Given the description of an element on the screen output the (x, y) to click on. 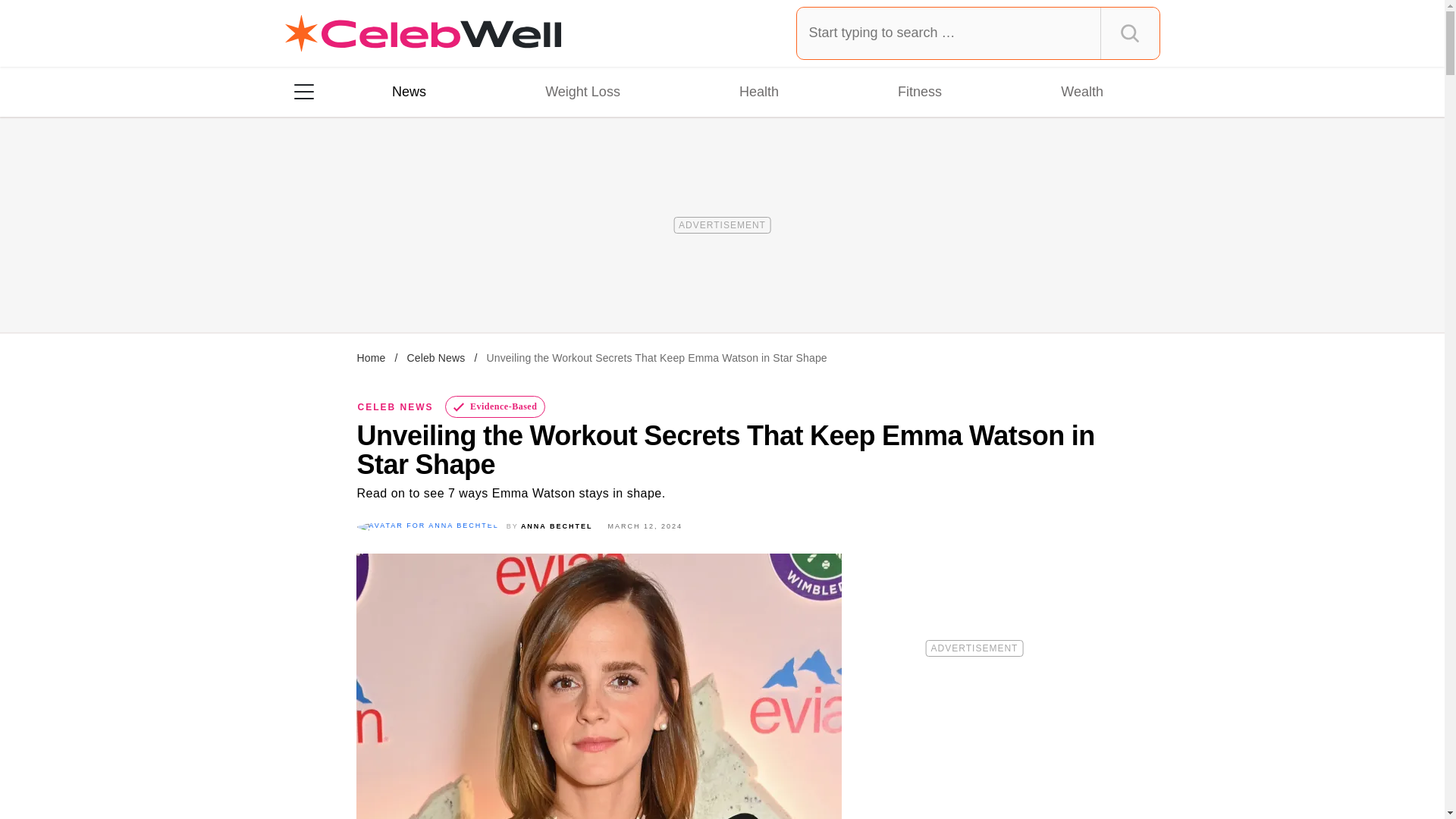
Type and press Enter to search (978, 32)
Celeb News (435, 357)
Wealth (1081, 91)
Posts by Anna Bechtel (556, 525)
CELEB NEWS (395, 407)
Home (370, 357)
Fitness (919, 91)
Evidence-Based (495, 406)
ANNA BECHTEL (556, 525)
Celebwell Homepage (422, 33)
